Given the description of an element on the screen output the (x, y) to click on. 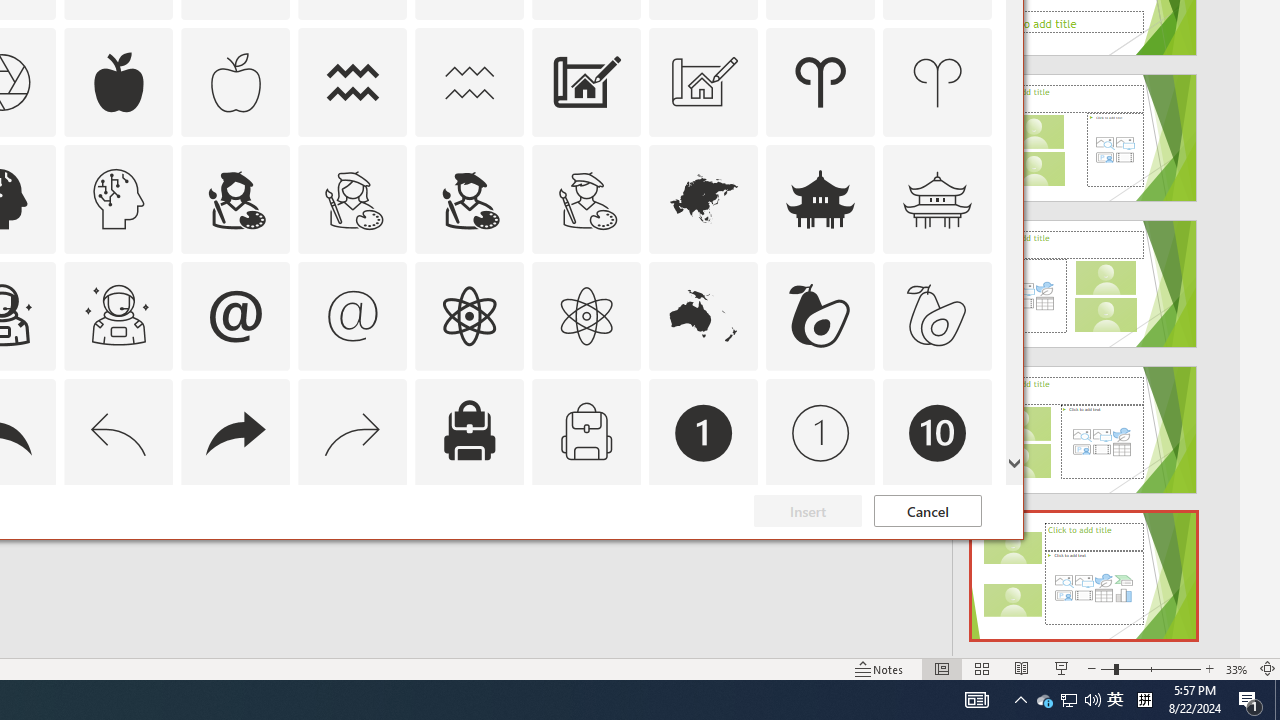
Thumbnail (977, 511)
AutomationID: Icons_ArtistFemale_M (353, 198)
AutomationID: Icons_ArtistMale (469, 198)
AutomationID: Icons_Badge8_M (703, 550)
AutomationID: Icons_Badge6_M (235, 550)
AutomationID: Icons_Badge7 (353, 550)
AutomationID: Icons_Backpack_M (586, 432)
AutomationID: Icons_Badge9_M (938, 550)
AutomationID: Icons_Atom_M (586, 316)
